Given the description of an element on the screen output the (x, y) to click on. 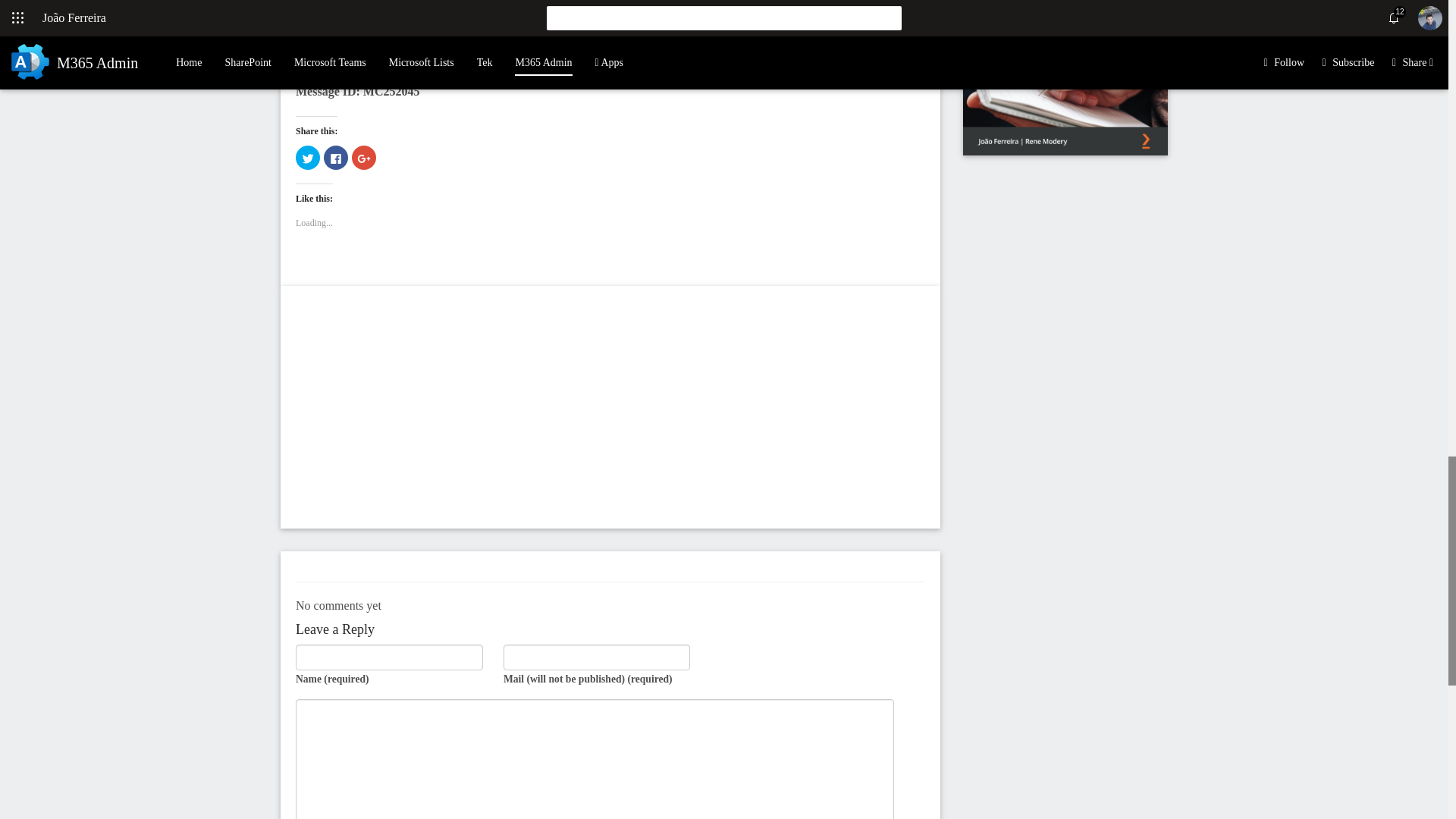
Click to share on Facebook (335, 157)
Introducing Operator Connect and more Teams Calling updates (461, 58)
Click to share on Twitter (307, 157)
